Given the description of an element on the screen output the (x, y) to click on. 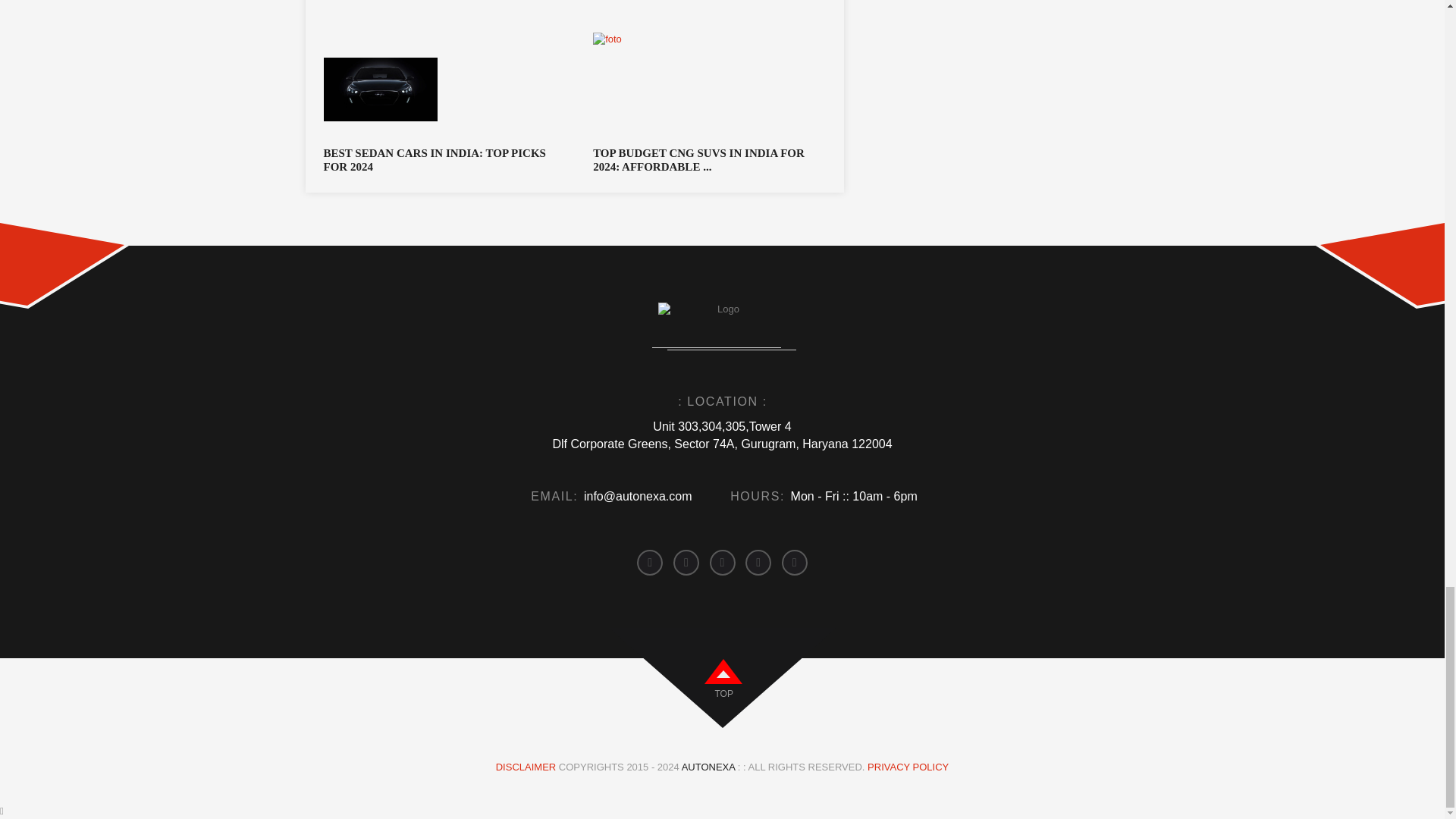
TOP BUDGET CNG SUVS IN INDIA FOR 2024: AFFORDABLE ... (708, 159)
TOP (723, 694)
BEST SEDAN CARS IN INDIA: TOP PICKS FOR 2024 (438, 159)
